Given the description of an element on the screen output the (x, y) to click on. 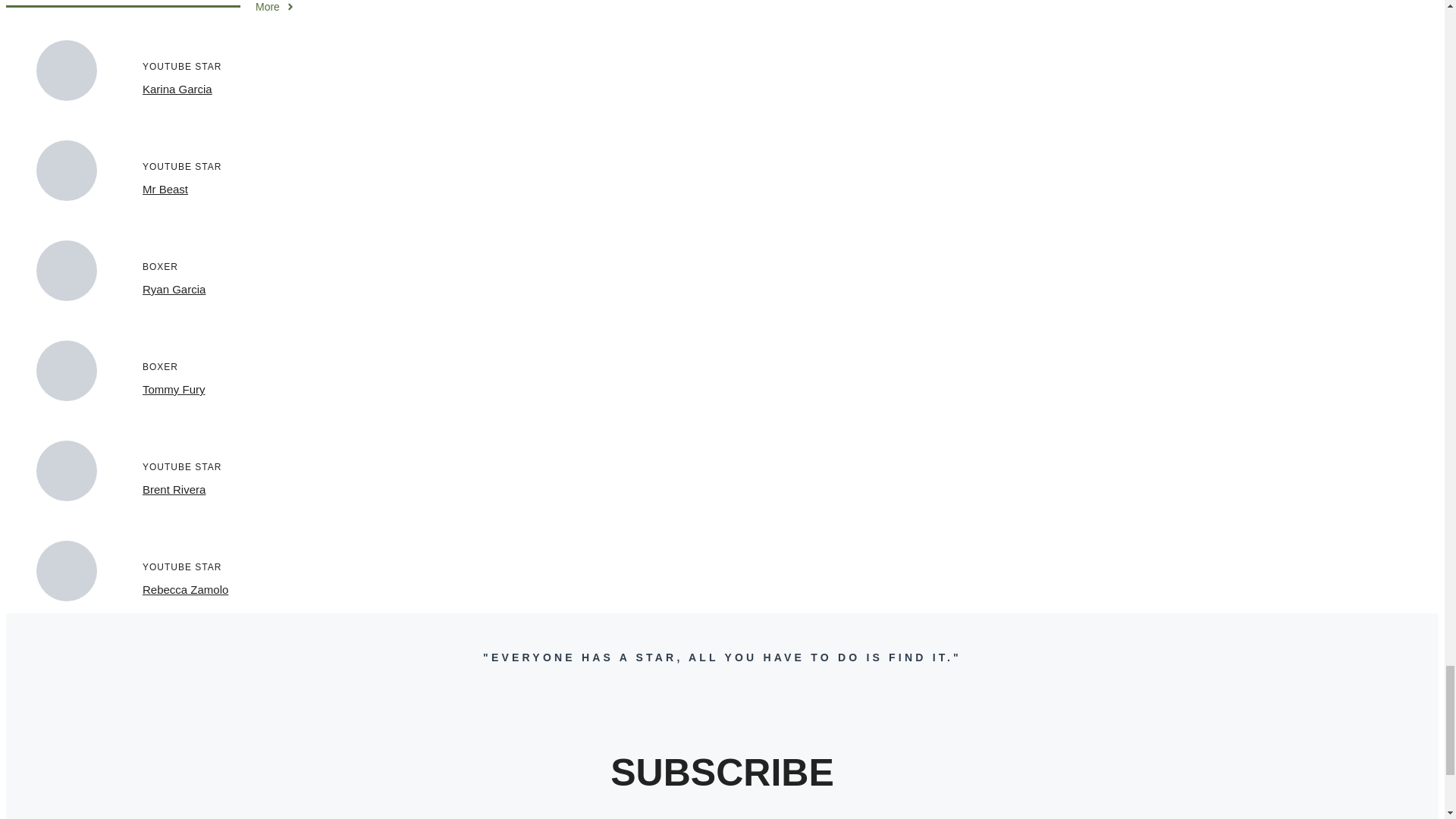
More (275, 6)
Tommy Fury (173, 389)
Karina Garcia (177, 88)
Mr Beast (164, 188)
Ryan Garcia (173, 288)
